Given the description of an element on the screen output the (x, y) to click on. 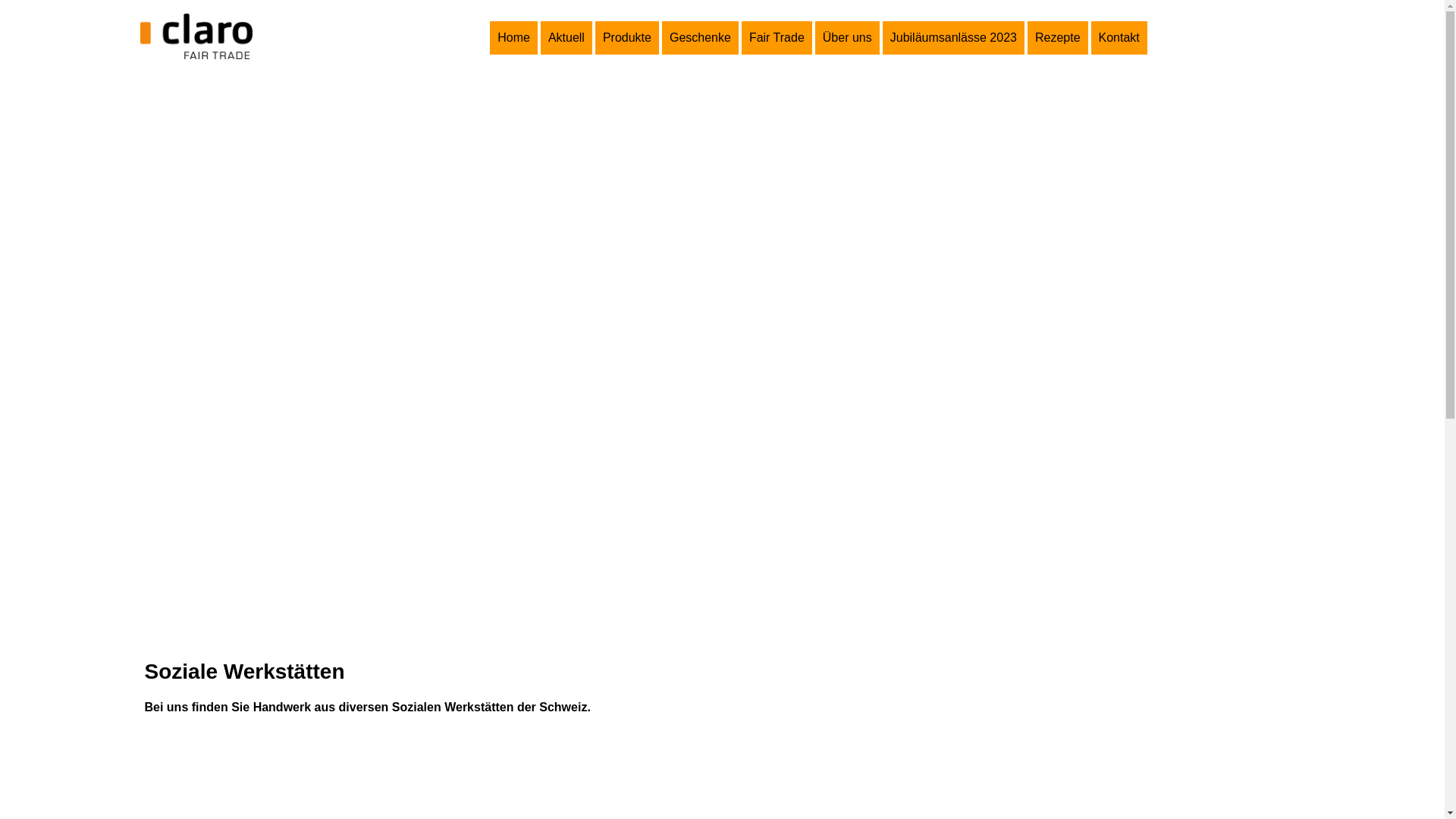
  Element type: text (234, 37)
Kontakt Element type: text (1118, 37)
Home Element type: text (513, 37)
Geschenke Element type: text (700, 37)
Produkte Element type: text (626, 37)
Rezepte Element type: text (1057, 37)
Fair Trade Element type: text (776, 37)
Aktuell Element type: text (566, 37)
